Given the description of an element on the screen output the (x, y) to click on. 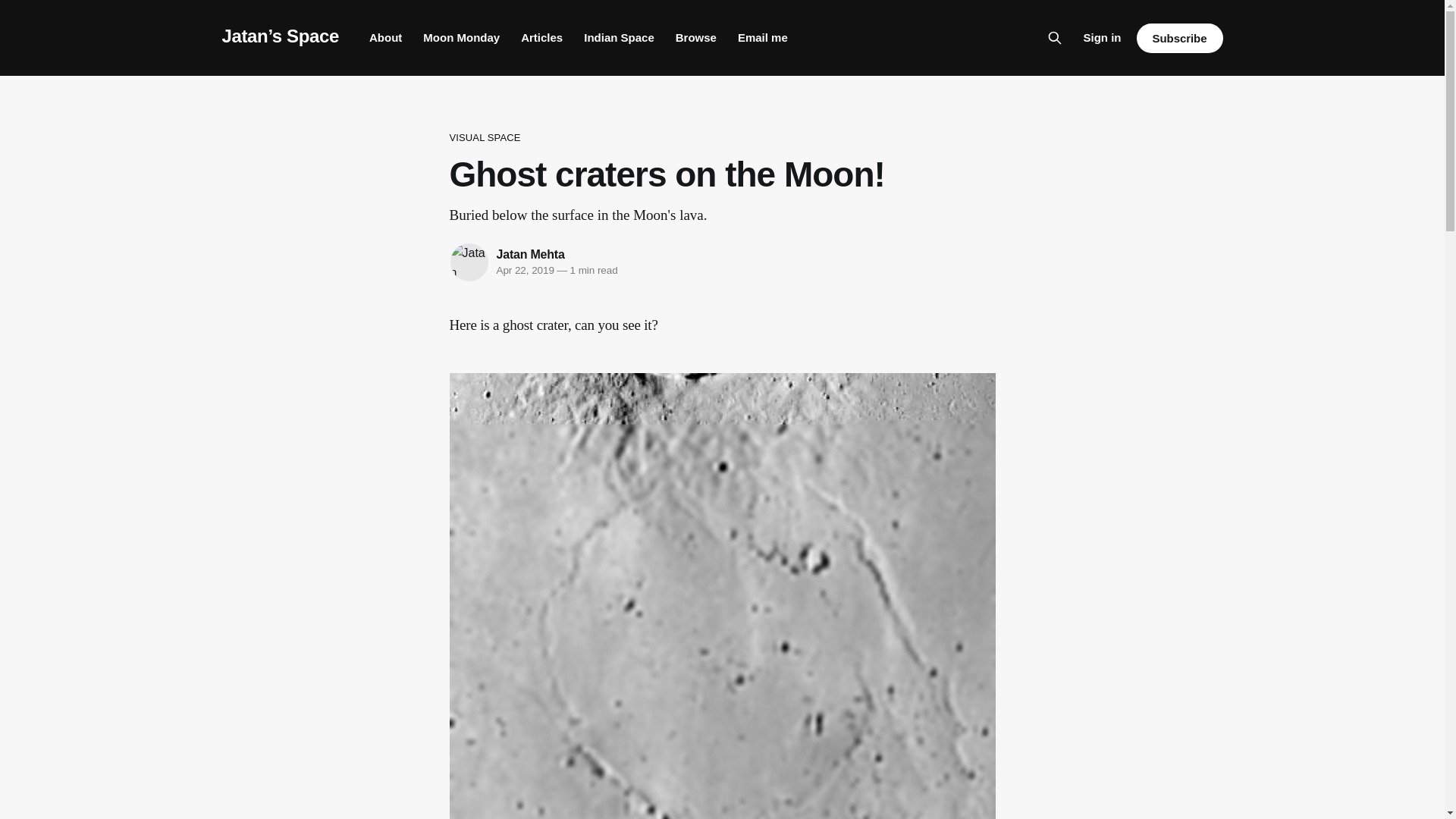
Sign in (1102, 37)
Browse (695, 37)
Moon Monday (461, 37)
Subscribe (1179, 37)
About (385, 37)
Articles (541, 37)
Indian Space (618, 37)
Jatan Mehta (530, 254)
Email me (762, 37)
VISUAL SPACE (721, 138)
